Given the description of an element on the screen output the (x, y) to click on. 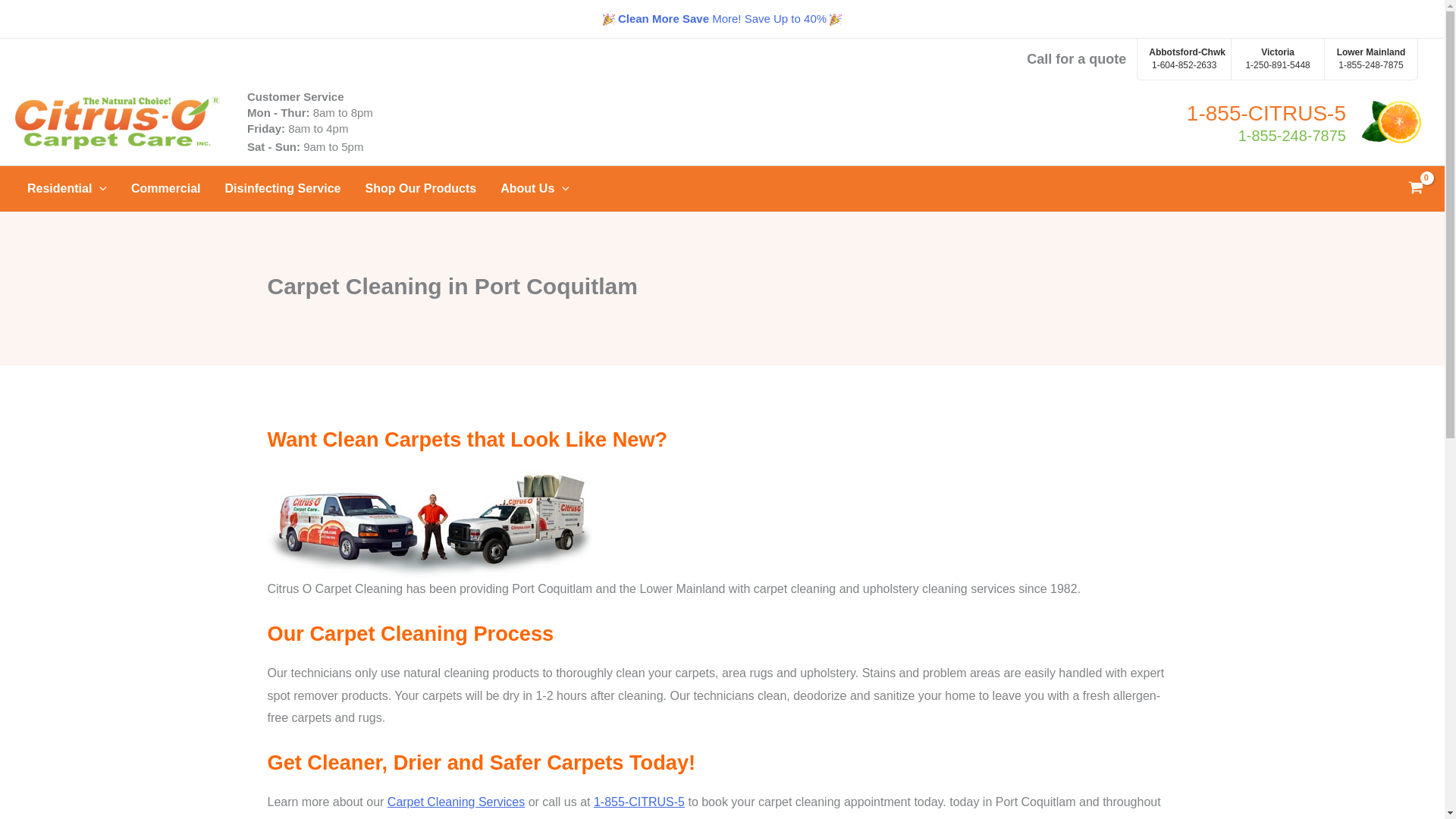
Disinfecting Service (1370, 58)
About Us (282, 188)
pet odour removal (533, 188)
Shop Our Products (1183, 58)
mattress cleaning (1304, 122)
Residential (421, 188)
